Given the description of an element on the screen output the (x, y) to click on. 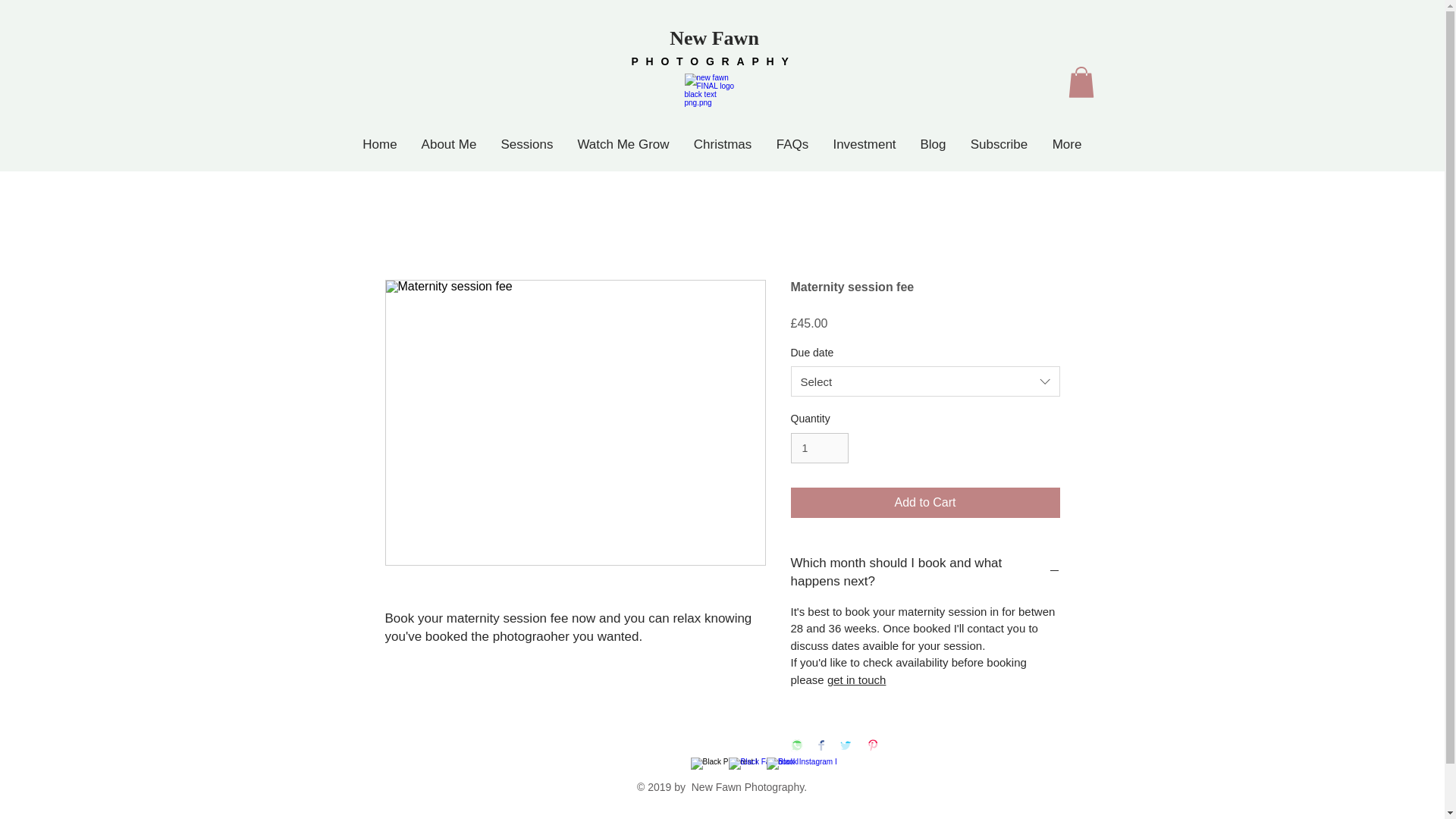
PHOTOGRAPHY (712, 61)
Subscribe (999, 143)
Add to Cart (924, 502)
Blog (933, 143)
Home (379, 143)
About Me (449, 143)
Christmas (721, 143)
1 (818, 448)
FAQs (792, 143)
get in touch (856, 679)
